Given the description of an element on the screen output the (x, y) to click on. 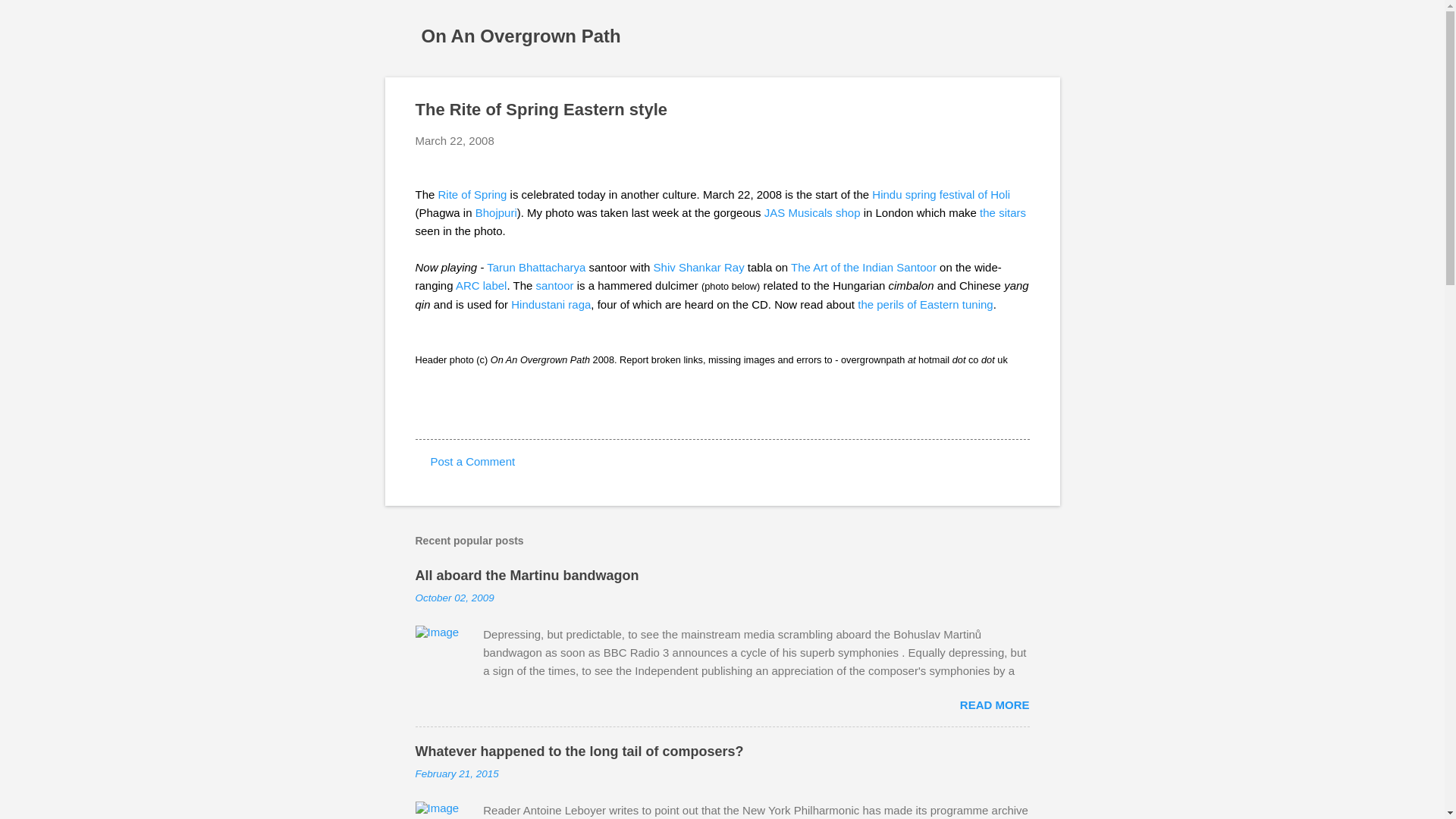
Bhojpuri (496, 212)
permanent link (454, 140)
Email Post (423, 410)
READ MORE (994, 704)
permanent link (454, 597)
October 02, 2009 (454, 597)
Post a Comment (472, 461)
JAS Musicals shop (812, 212)
Tarun Bhattacharya (535, 267)
All aboard the Martinu bandwagon (526, 575)
the perils of Eastern tuning (924, 303)
On An Overgrown Path (521, 35)
Rite of Spring (472, 194)
March 22, 2008 (454, 140)
Hindustani raga (551, 303)
